Given the description of an element on the screen output the (x, y) to click on. 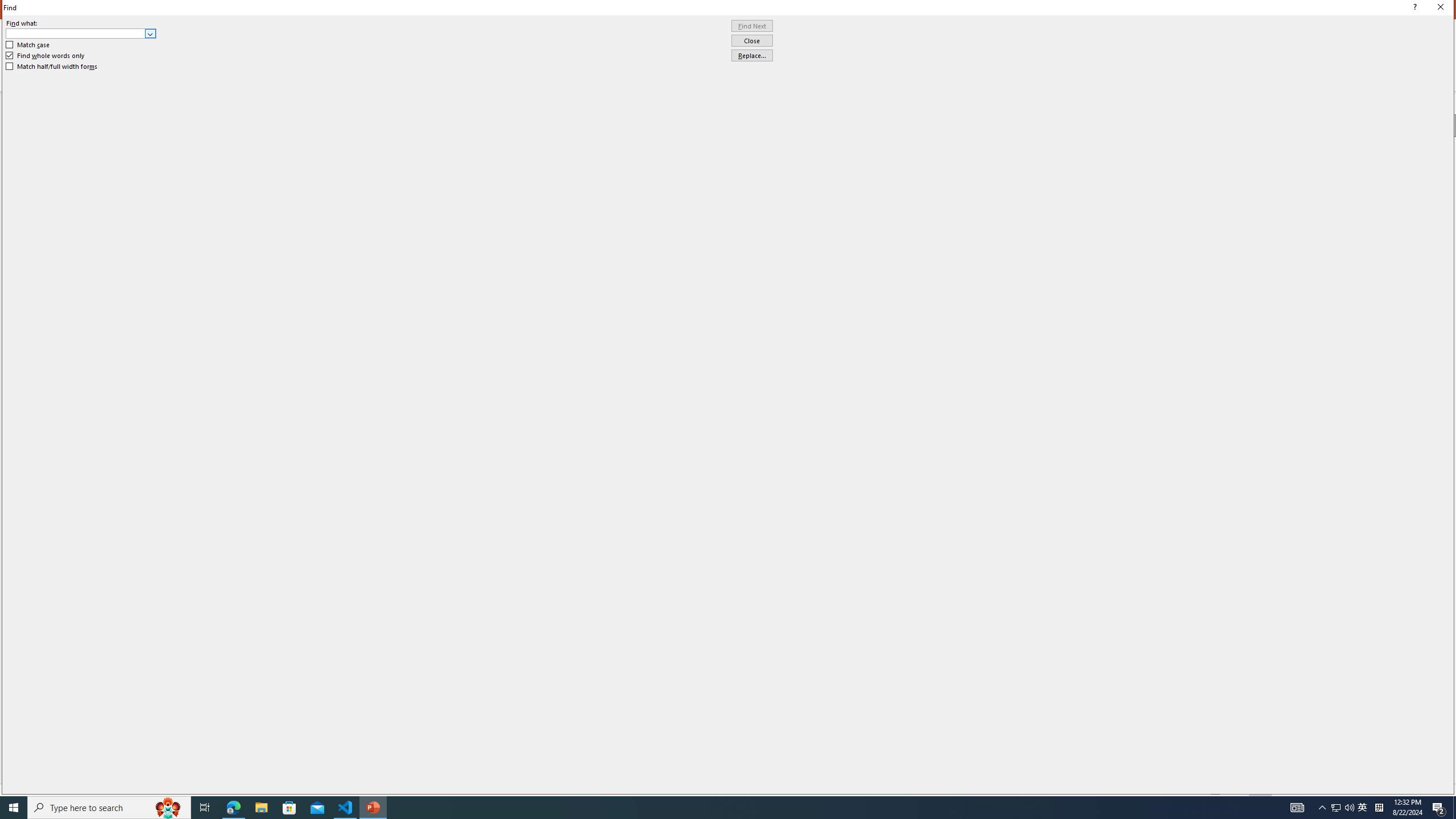
Find whole words only (45, 55)
Match half/full width forms (52, 66)
Find Next (751, 25)
Find what (75, 33)
Match case (27, 44)
Find what (80, 33)
